Given the description of an element on the screen output the (x, y) to click on. 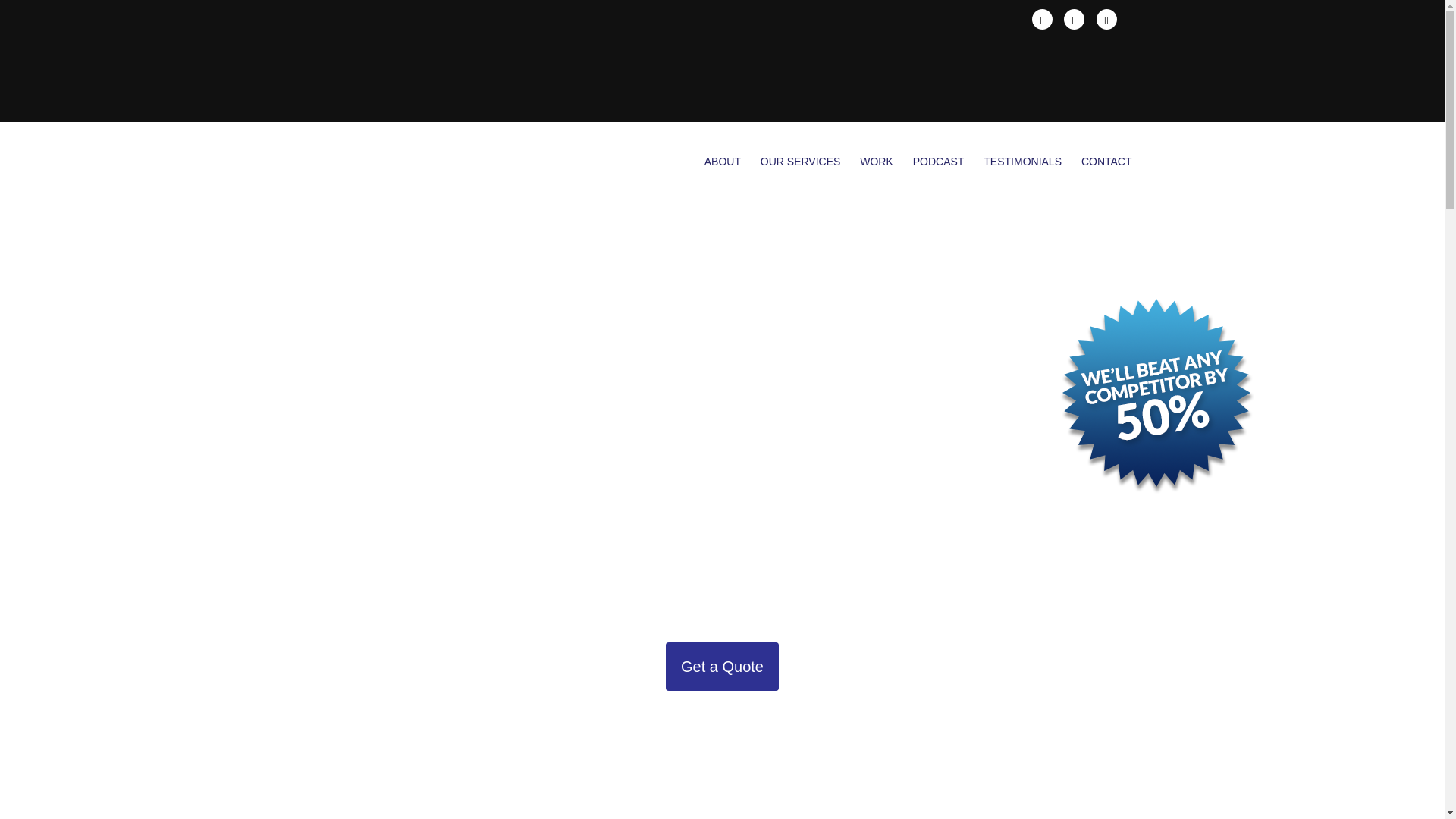
CONTACT (1106, 161)
PODCAST (937, 161)
Get a Quote (721, 666)
OUR SERVICES (800, 161)
ABOUT (722, 161)
WORK (876, 161)
TESTIMONIALS (1022, 161)
Submit (716, 767)
